Given the description of an element on the screen output the (x, y) to click on. 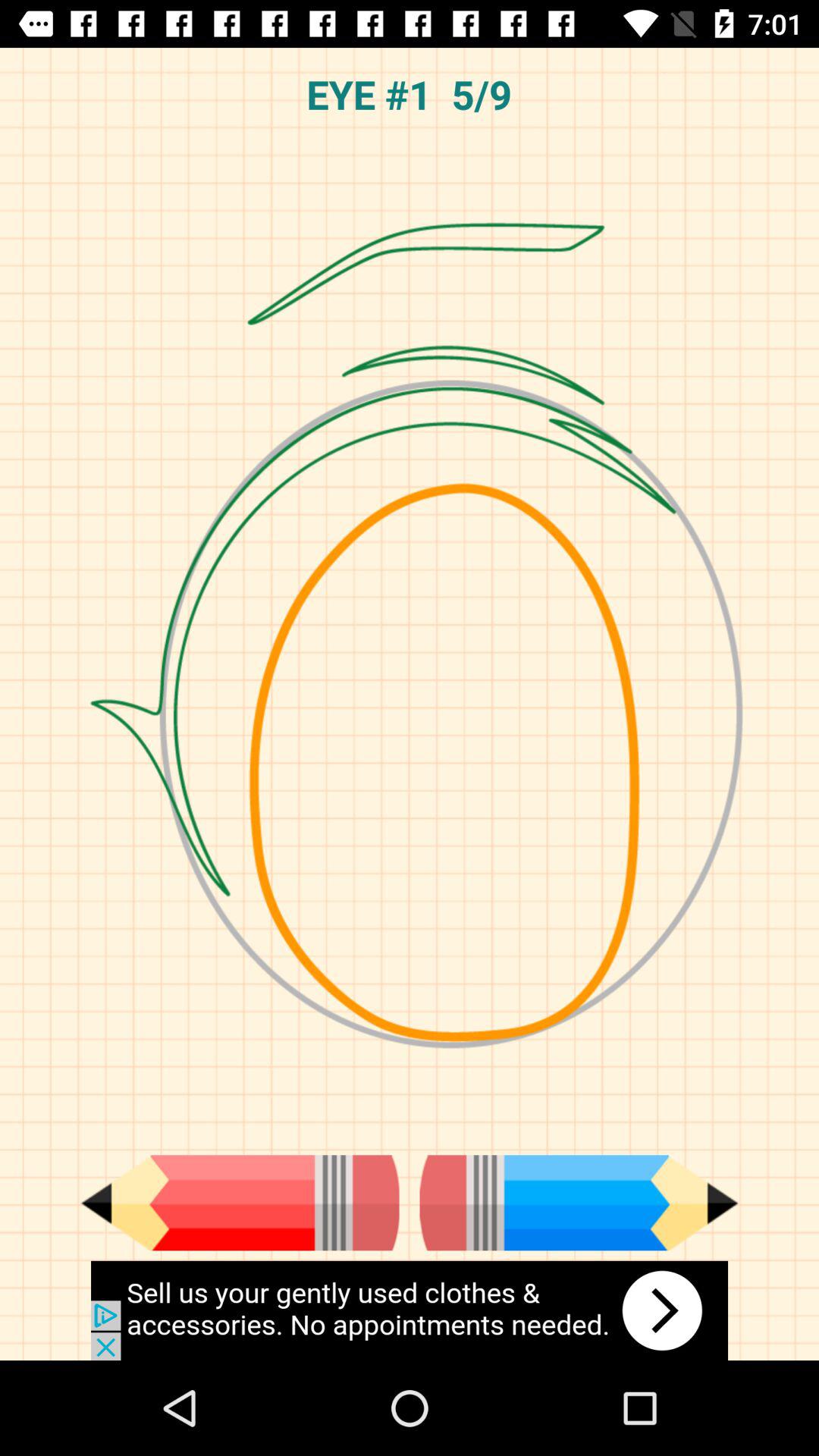
red pencil (239, 1202)
